Given the description of an element on the screen output the (x, y) to click on. 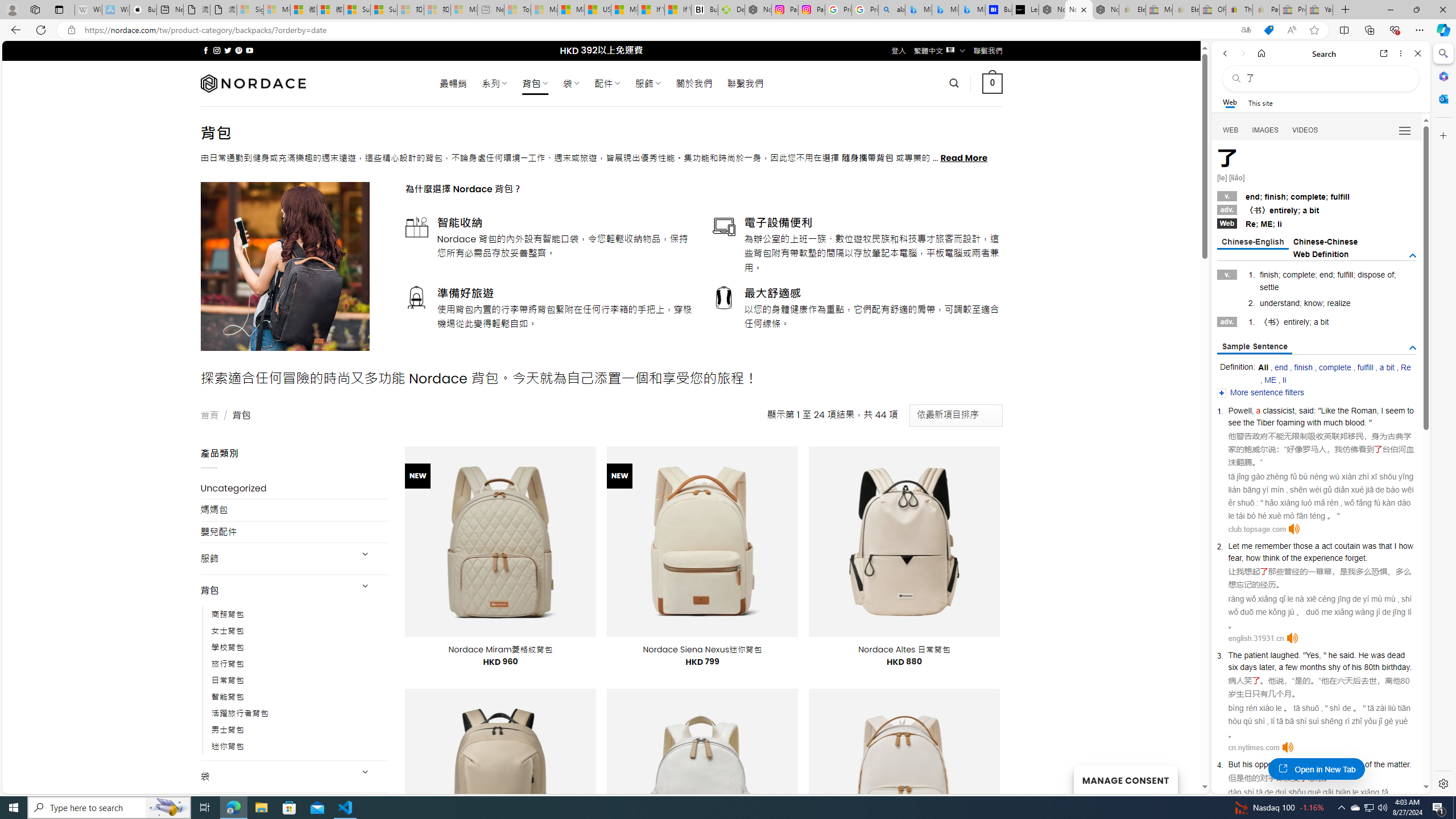
Tiber (1265, 422)
. (1410, 764)
Uncategorized (294, 488)
